Given the description of an element on the screen output the (x, y) to click on. 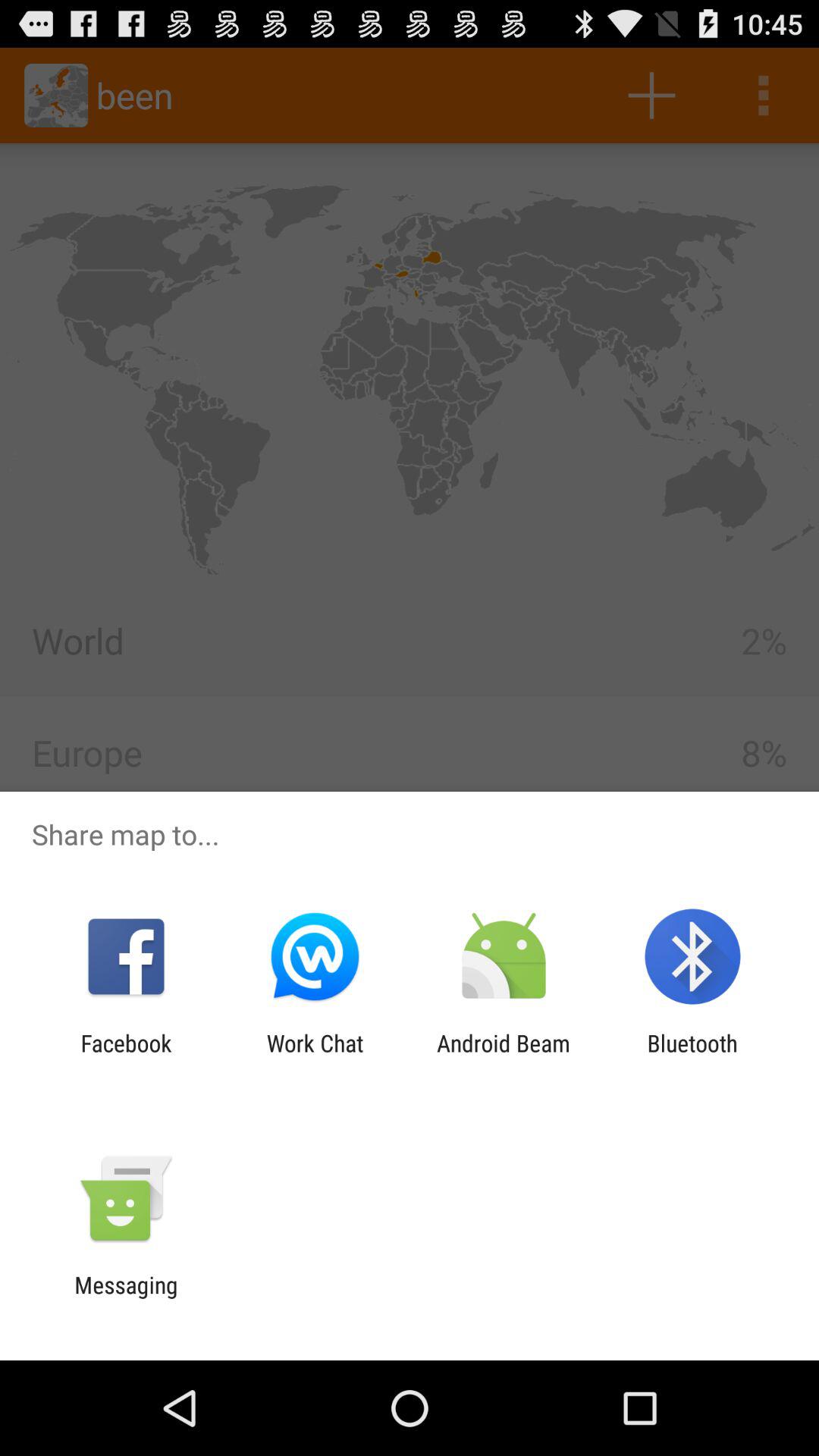
select facebook icon (125, 1056)
